Given the description of an element on the screen output the (x, y) to click on. 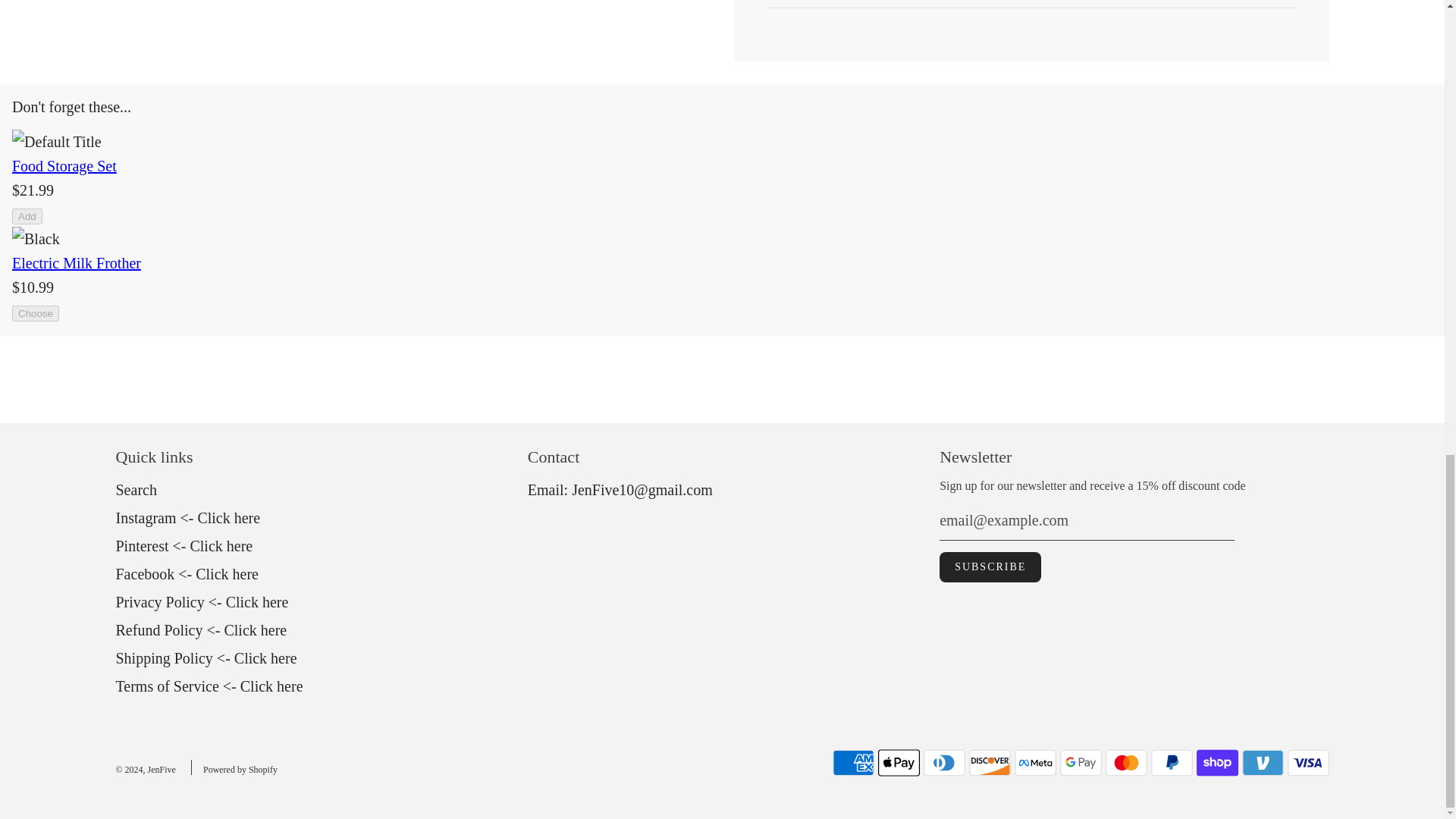
American Express (853, 762)
Visa (1308, 762)
Discover (989, 762)
Subscribe (990, 567)
Google Pay (1080, 762)
Diners Club (944, 762)
Shop Pay (1217, 762)
Mastercard (1126, 762)
Meta Pay (1035, 762)
PayPal (1171, 762)
Apple Pay (898, 762)
Venmo (1262, 762)
